Given the description of an element on the screen output the (x, y) to click on. 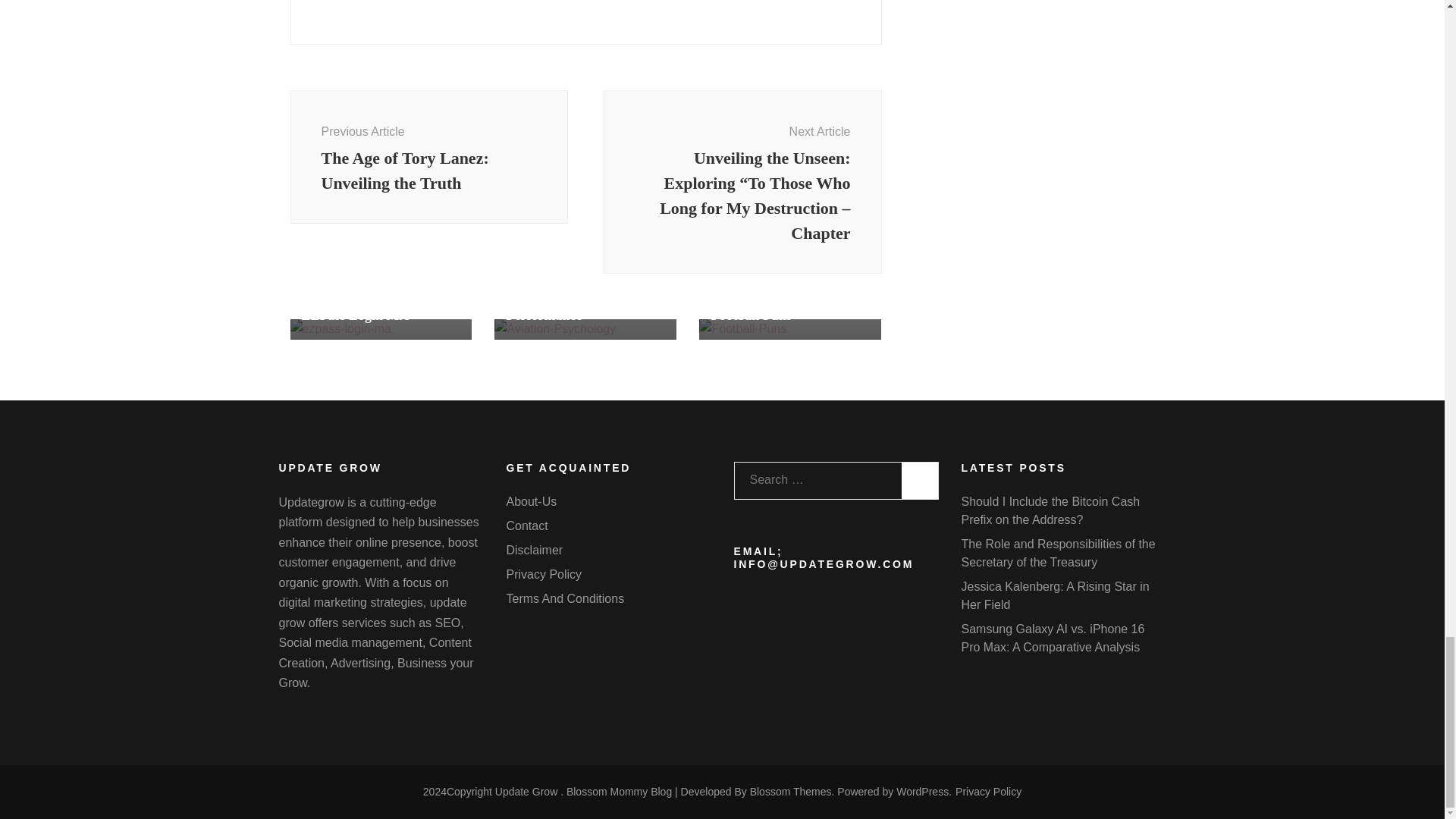
Search (919, 480)
Search (428, 156)
